Given the description of an element on the screen output the (x, y) to click on. 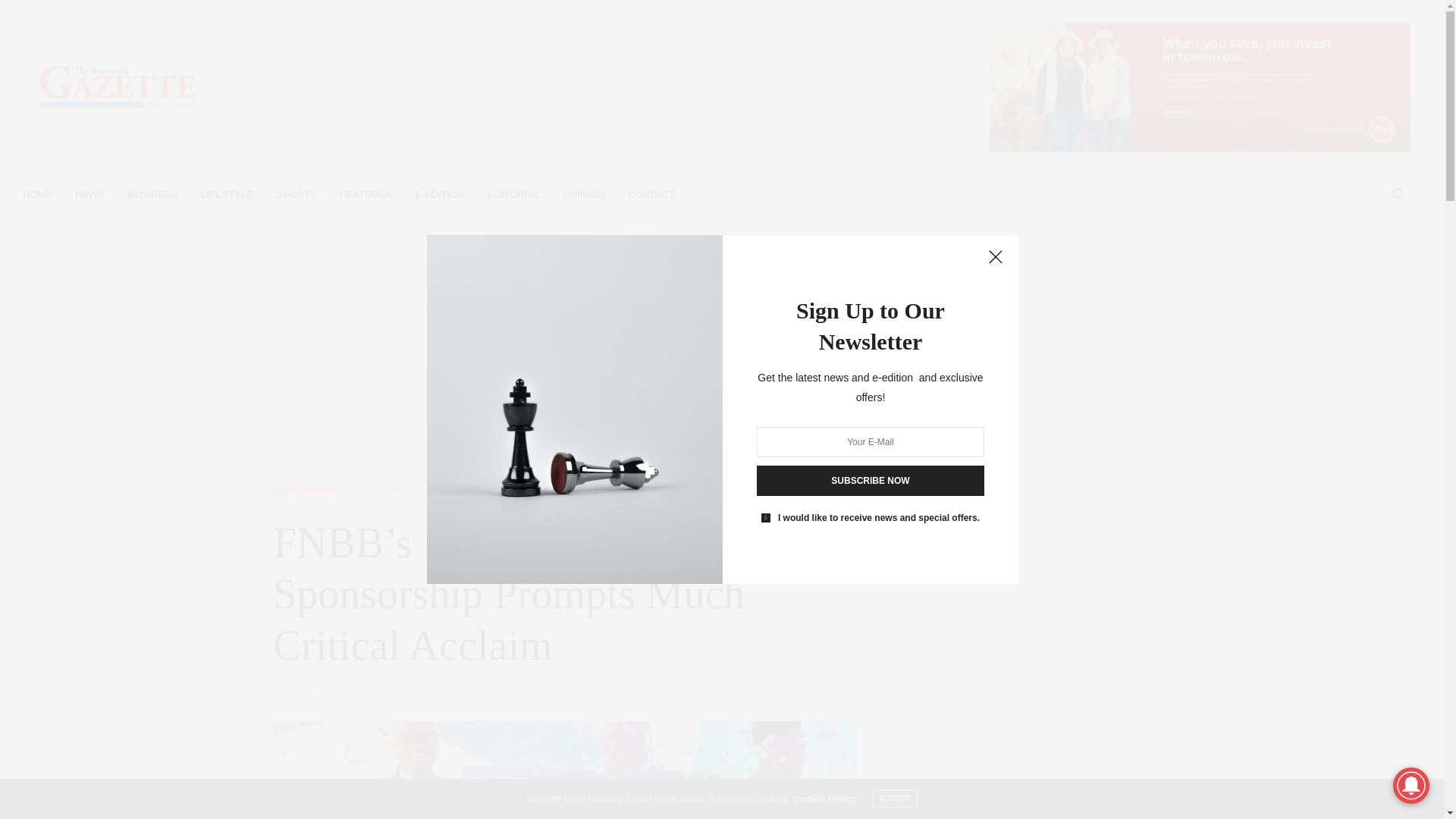
EDITORIAL (513, 193)
Scroll To Top (1408, 782)
NEWS (285, 490)
SUBSCRIBE NOW (870, 481)
CONTACT (651, 193)
OPINION (584, 193)
SPORTS (296, 193)
BUSINESS (152, 193)
ADMIN (296, 691)
E-EDITION (439, 193)
FEATURES (365, 193)
Botswana Gazette (117, 86)
Posts by Admin (296, 691)
SPORTS (319, 490)
